Given the description of an element on the screen output the (x, y) to click on. 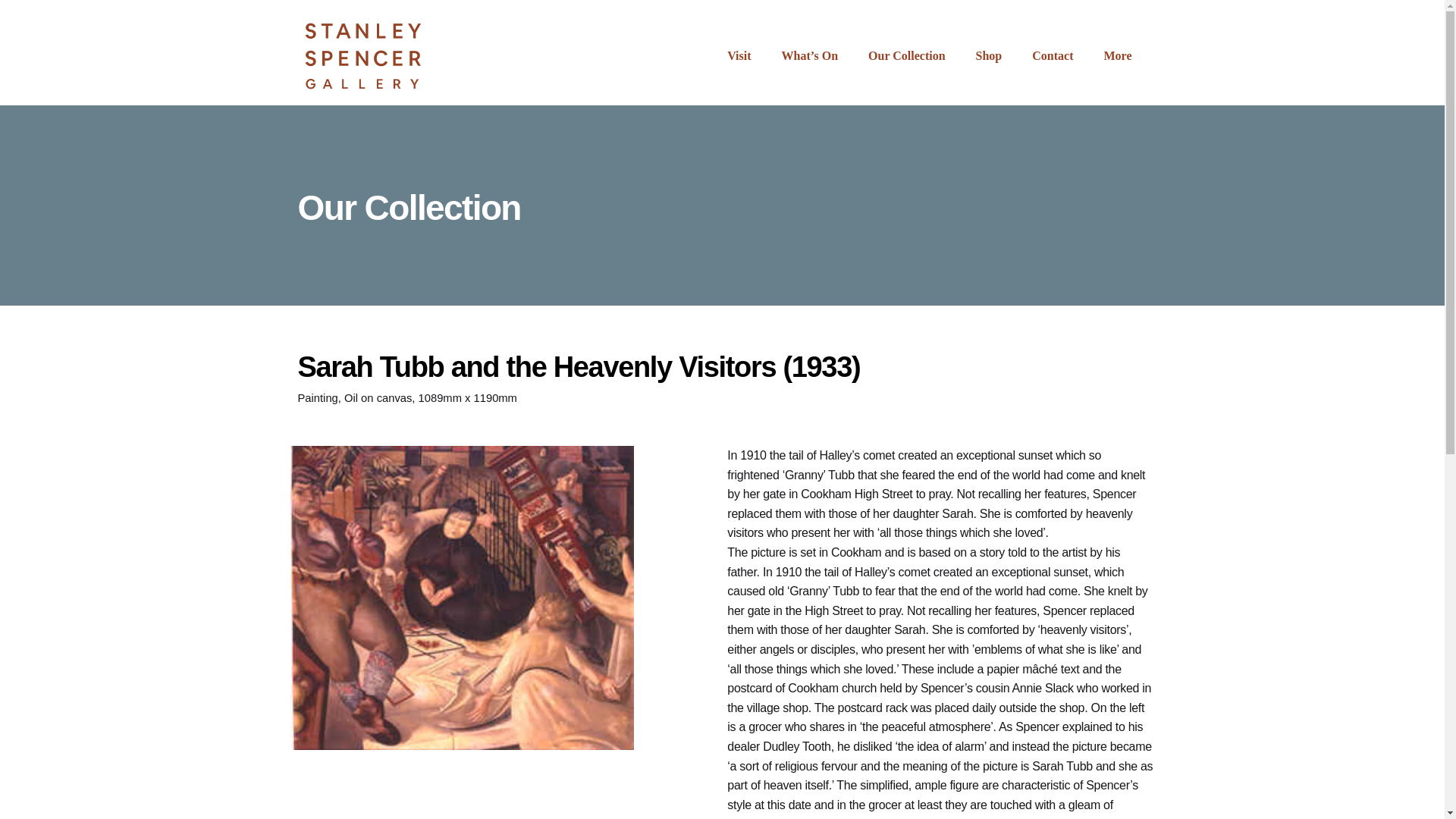
Our Collection (906, 55)
Shop (988, 55)
More (1117, 55)
Visit (738, 55)
Contact (1051, 55)
